Given the description of an element on the screen output the (x, y) to click on. 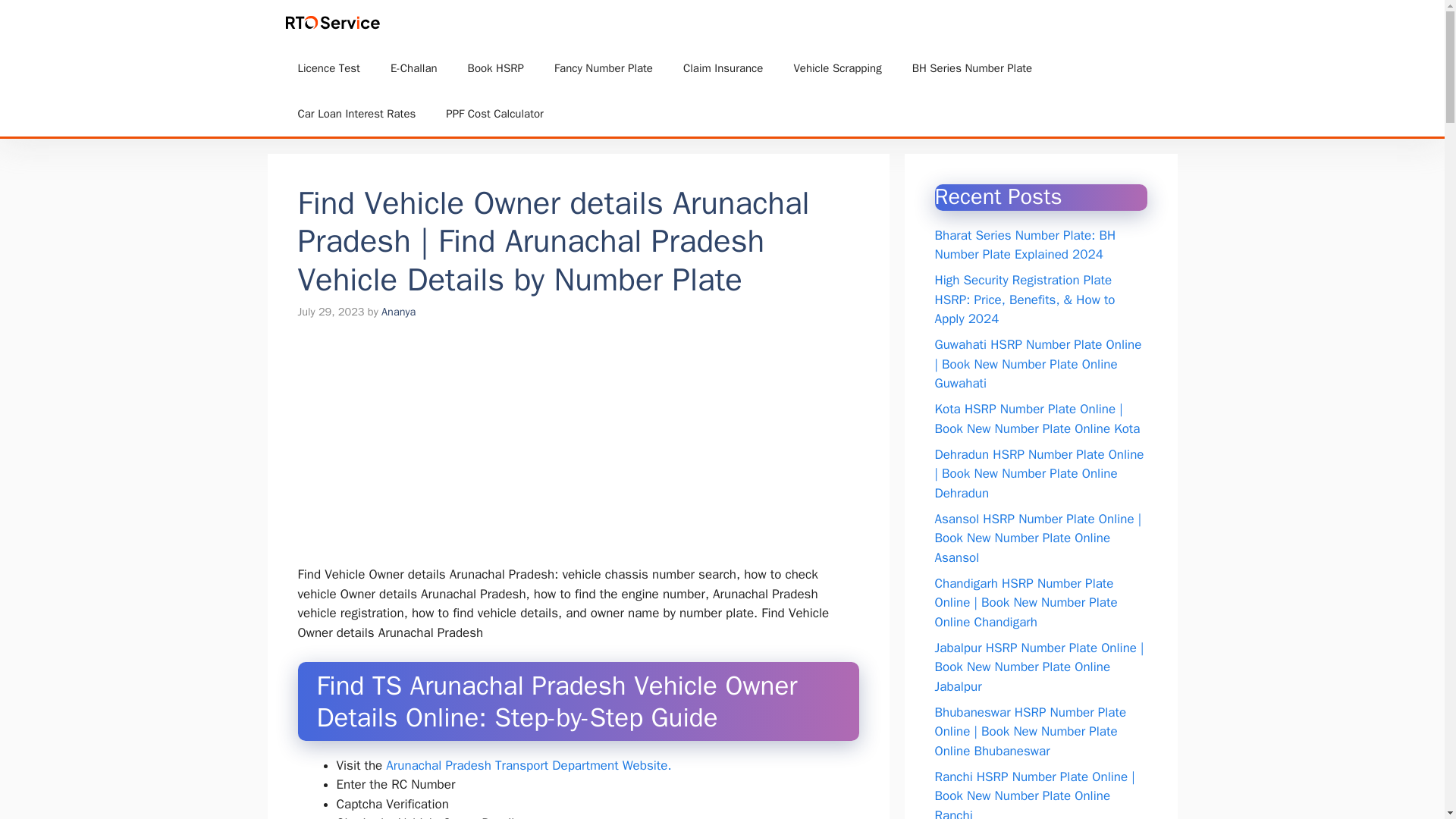
Ananya (397, 311)
Bharat Series Number Plate: BH Number Plate Explained 2024 (1024, 244)
Claim Insurance (722, 67)
Fancy Number Plate (603, 67)
PPF Cost Calculator (494, 113)
RTO Services (335, 22)
View all posts by Ananya (397, 311)
Book HSRP (495, 67)
Arunachal Pradesh Transport Department Website. (528, 765)
Advertisement (592, 452)
Vehicle Scrapping (836, 67)
RTO Services (450, 22)
E-Challan (413, 67)
BH Series Number Plate (971, 67)
Car Loan Interest Rates (356, 113)
